Given the description of an element on the screen output the (x, y) to click on. 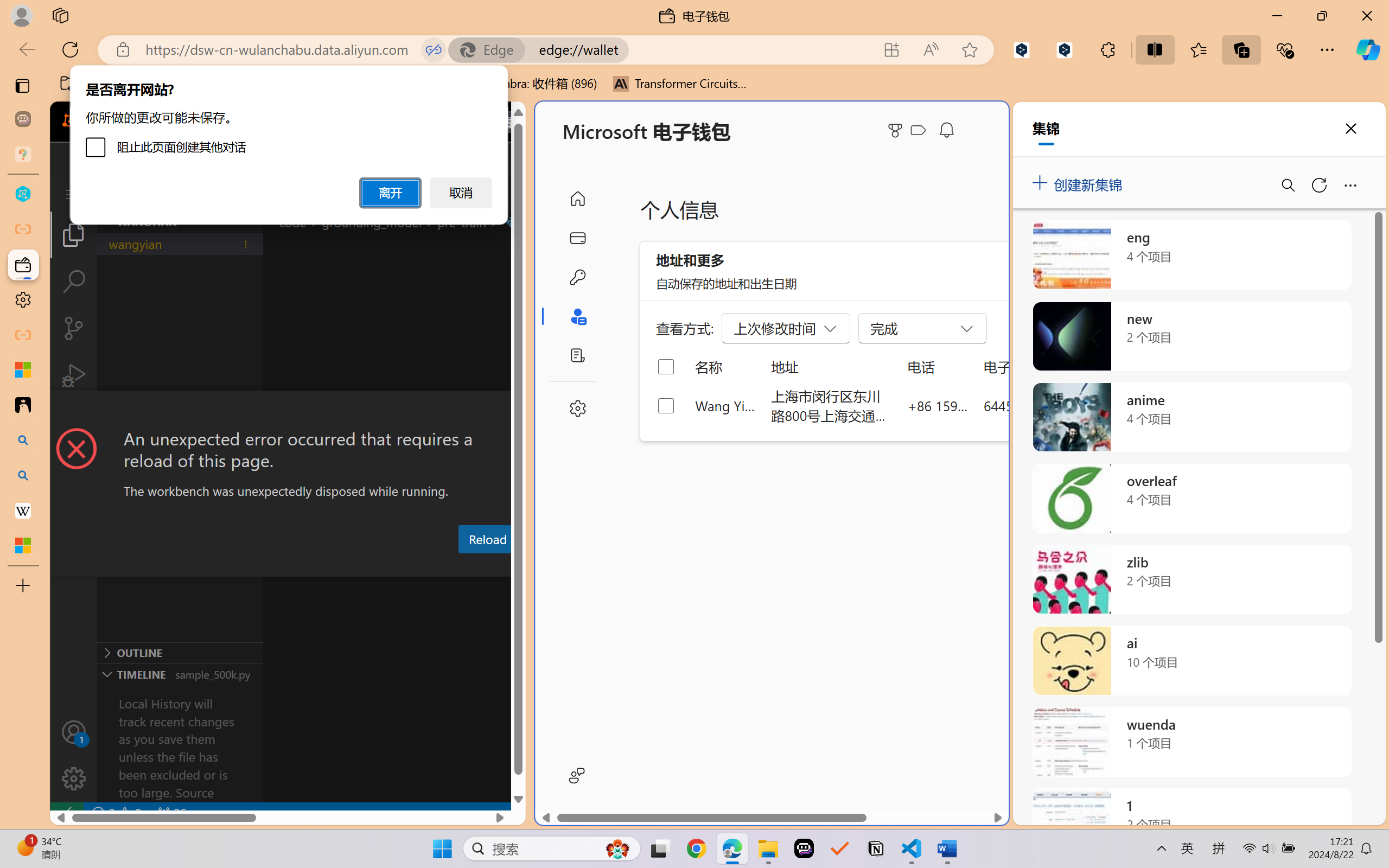
Extensions (Ctrl+Shift+X) (73, 422)
Microsoft Cashback (920, 130)
